Given the description of an element on the screen output the (x, y) to click on. 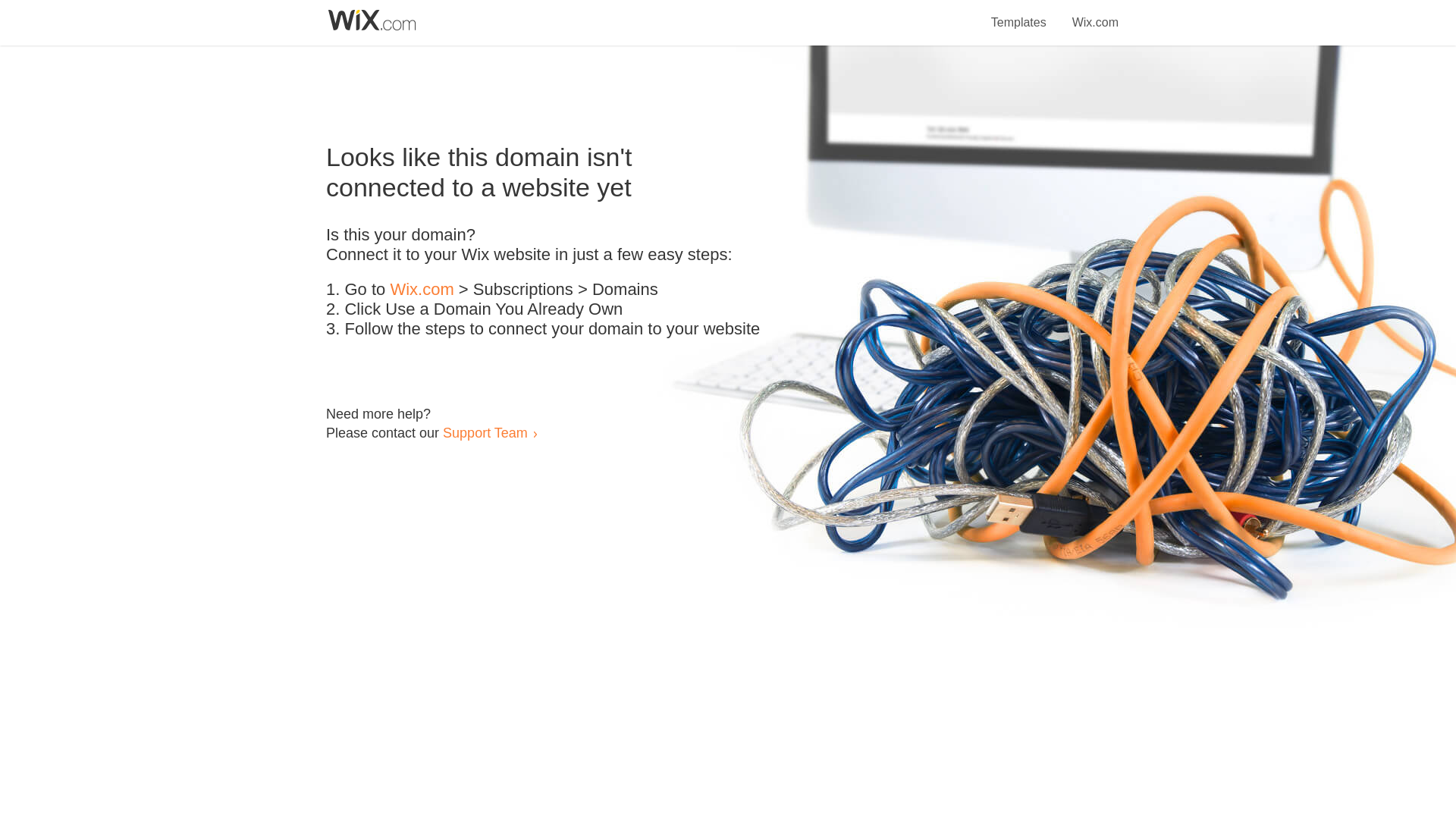
Templates (1018, 14)
Wix.com (1095, 14)
Support Team (484, 432)
Wix.com (421, 289)
